Given the description of an element on the screen output the (x, y) to click on. 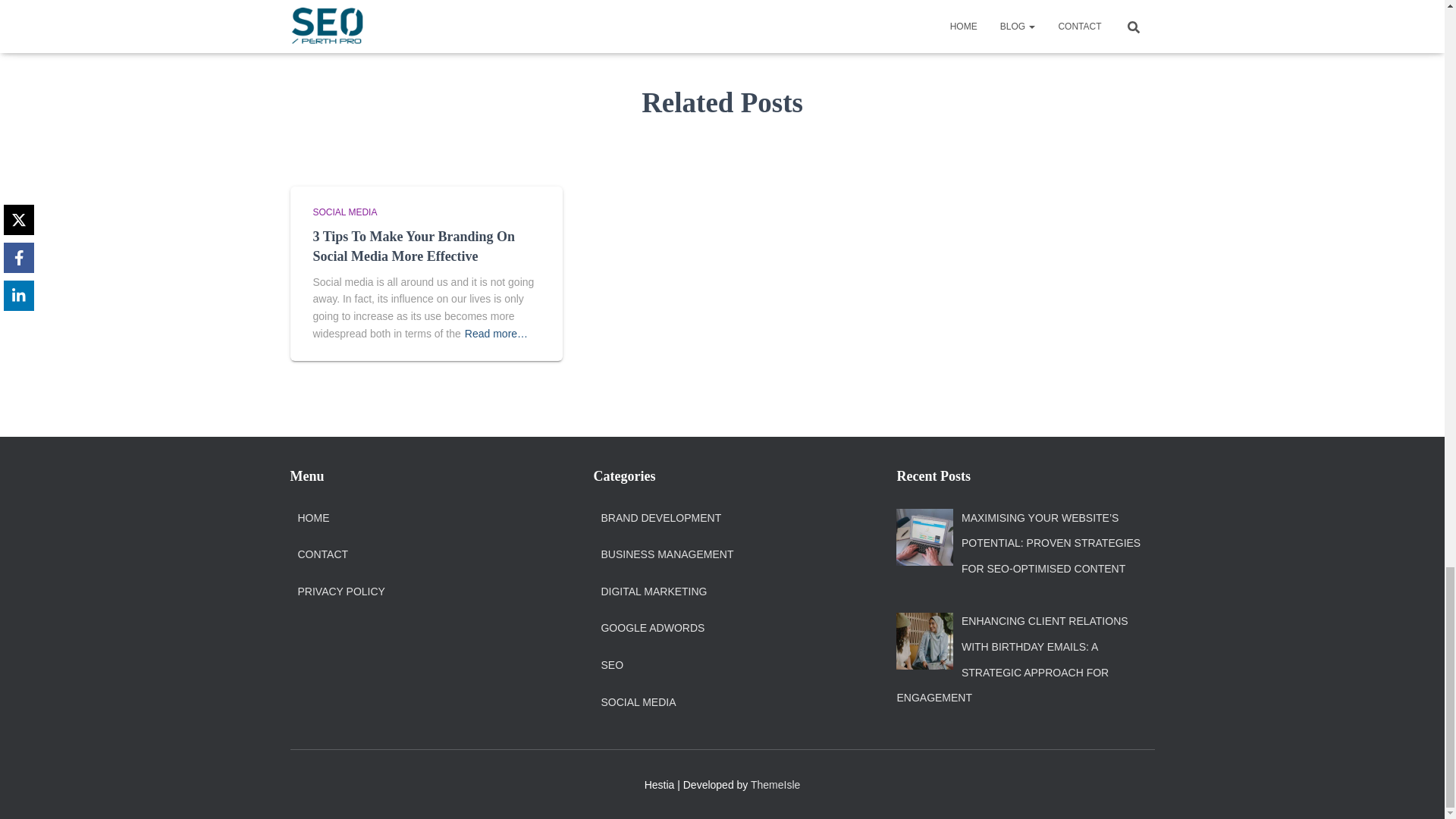
3 Tips To Make Your Branding On Social Media More Effective (413, 245)
View all posts in Social Media (345, 212)
